Given the description of an element on the screen output the (x, y) to click on. 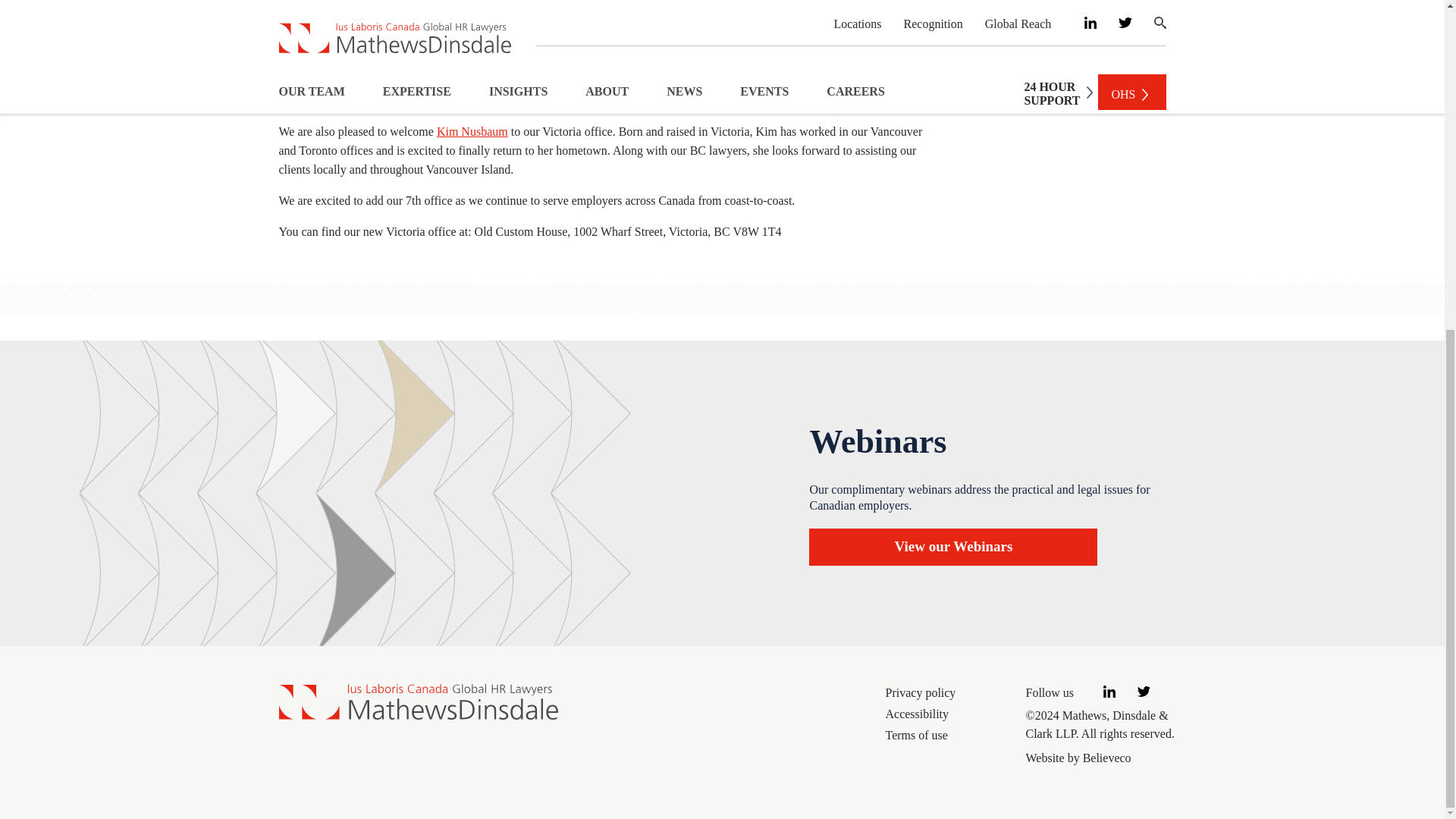
Believeco (1107, 757)
Accessibility (949, 713)
Privacy policy (949, 692)
Kim Nusbaum (472, 131)
Terms of use (949, 734)
View our Webinars (953, 546)
